Given the description of an element on the screen output the (x, y) to click on. 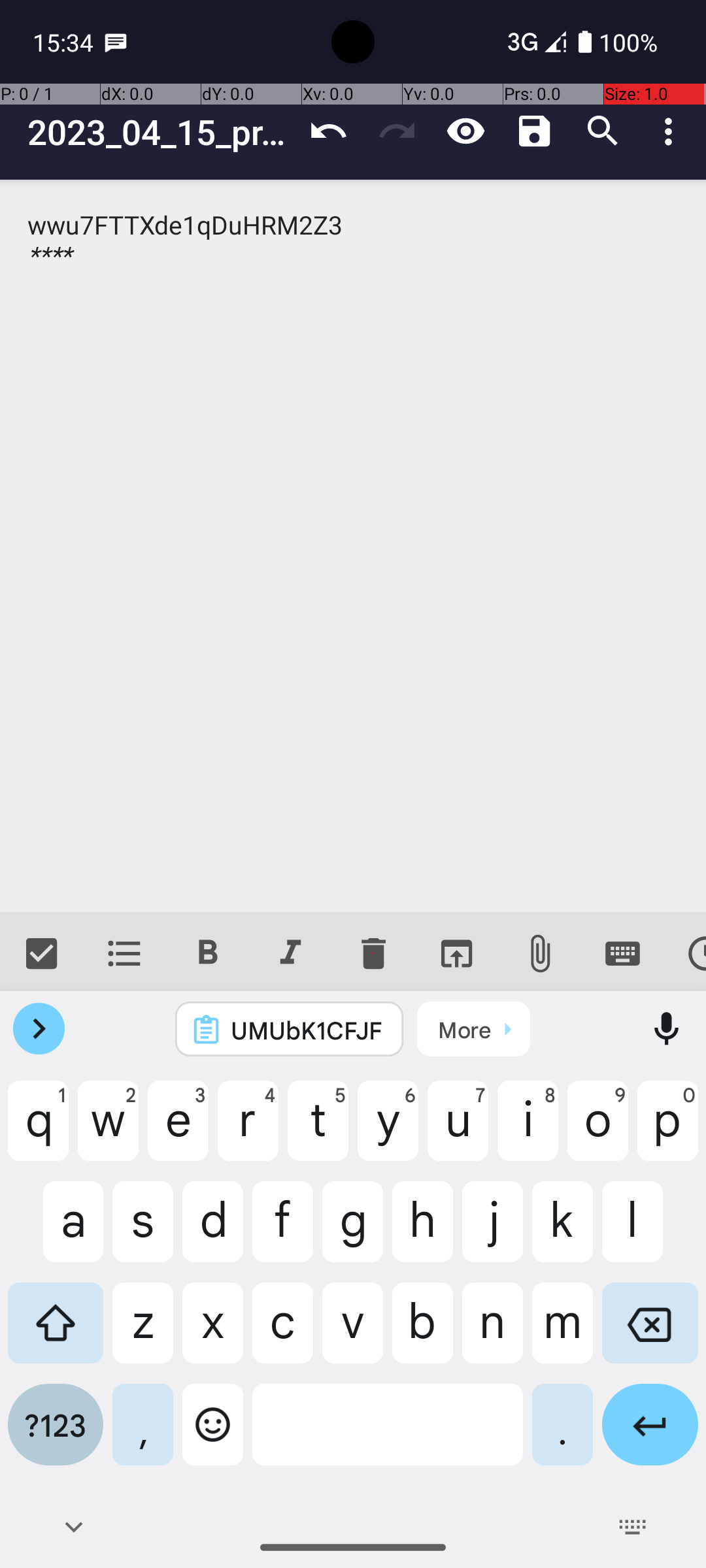
2023_04_15_proud_guitar Element type: android.widget.TextView (160, 131)
wwu7FTTXde1qDuHRM2Z3
**** Element type: android.widget.EditText (353, 545)
UMUbK1CFJF Element type: android.widget.TextView (306, 1029)
